Given the description of an element on the screen output the (x, y) to click on. 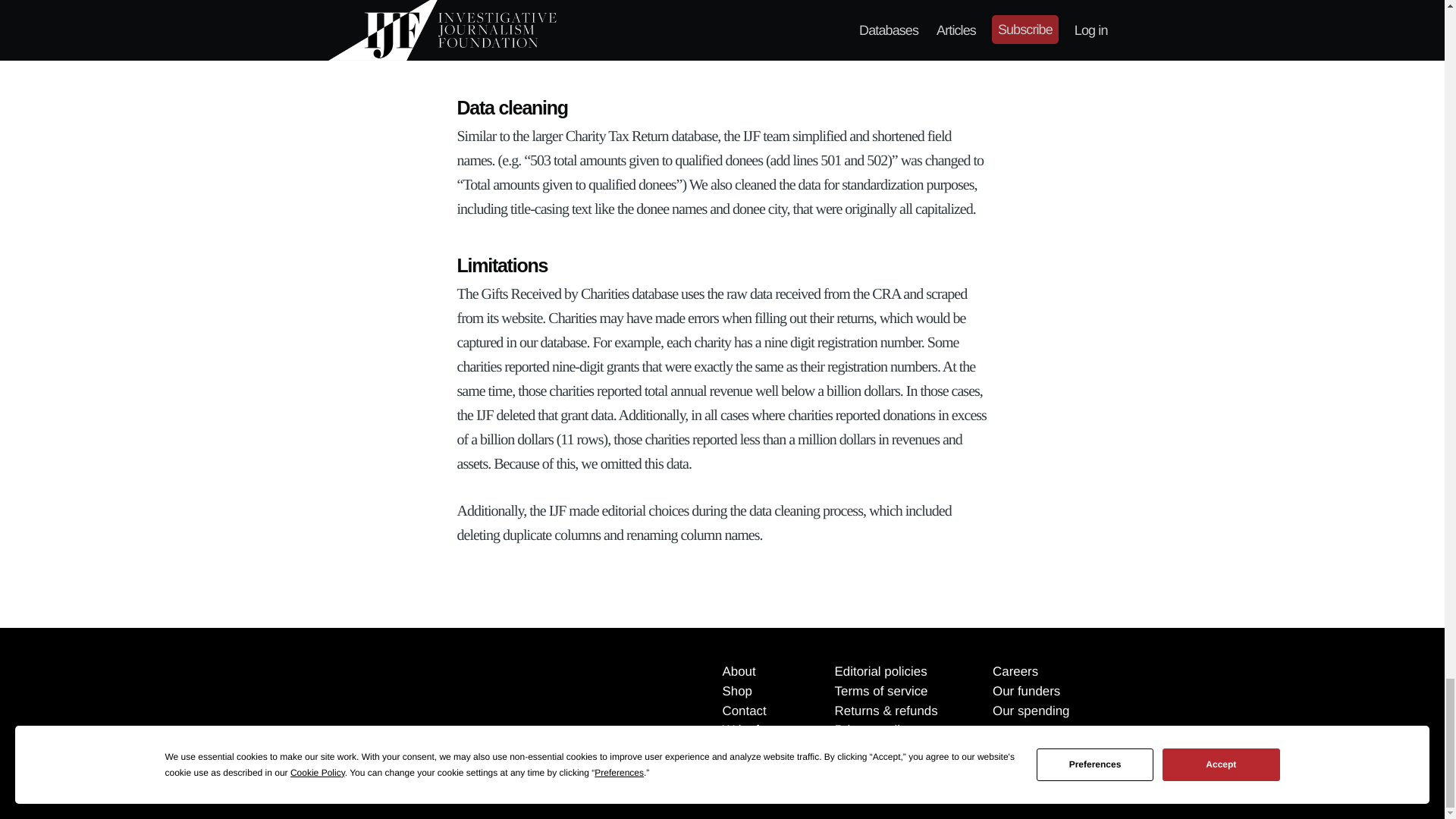
Contact (743, 711)
Leak to us (751, 750)
Twitter (420, 773)
Shop (736, 691)
Bluesky (536, 773)
Write for us (754, 730)
Editorial policies (880, 671)
Terms of service (881, 691)
About (738, 671)
